Given the description of an element on the screen output the (x, y) to click on. 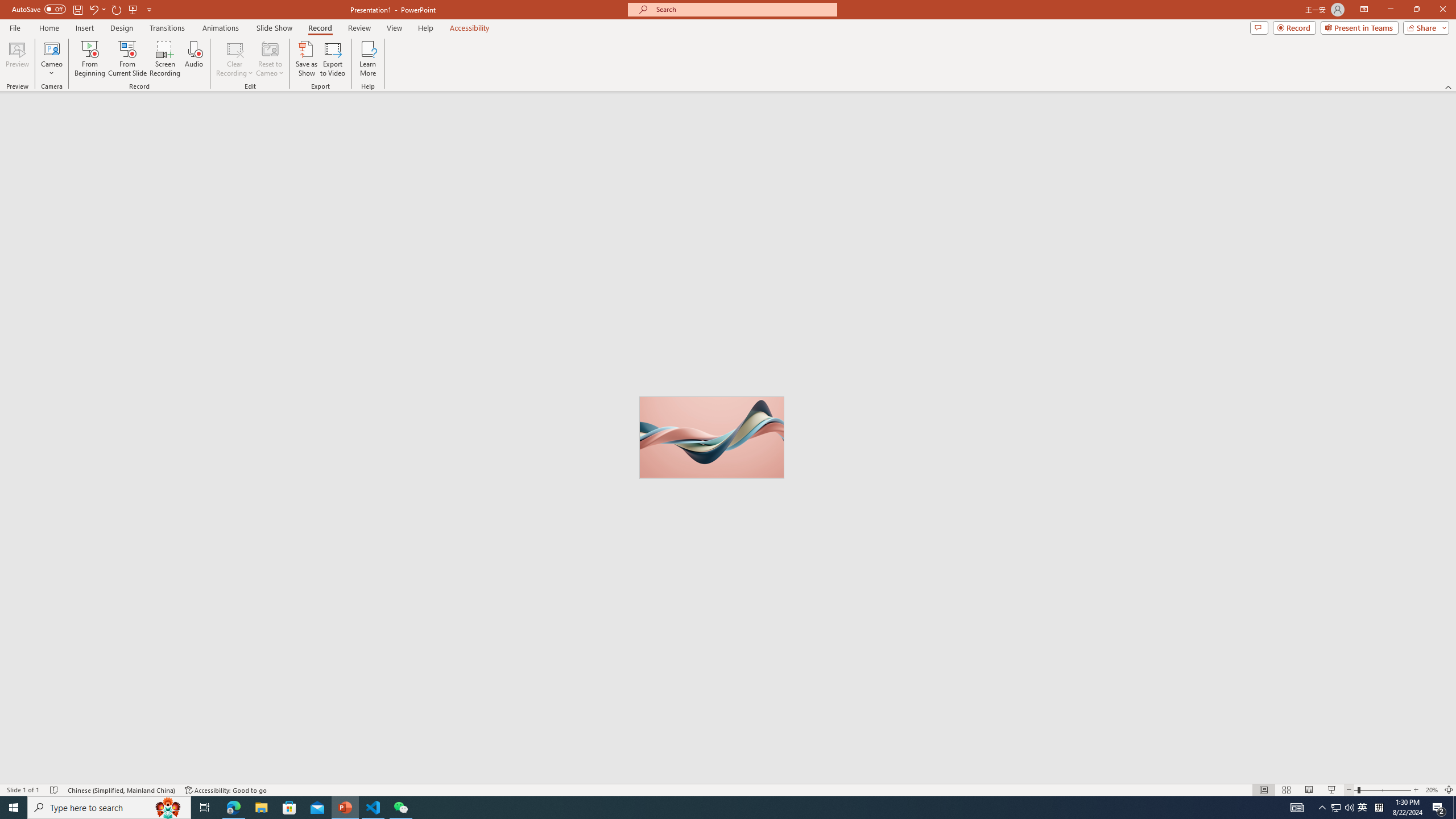
Export to Video (332, 58)
Wavy 3D art (711, 437)
Audio (193, 58)
Screen Recording (165, 58)
